Given the description of an element on the screen output the (x, y) to click on. 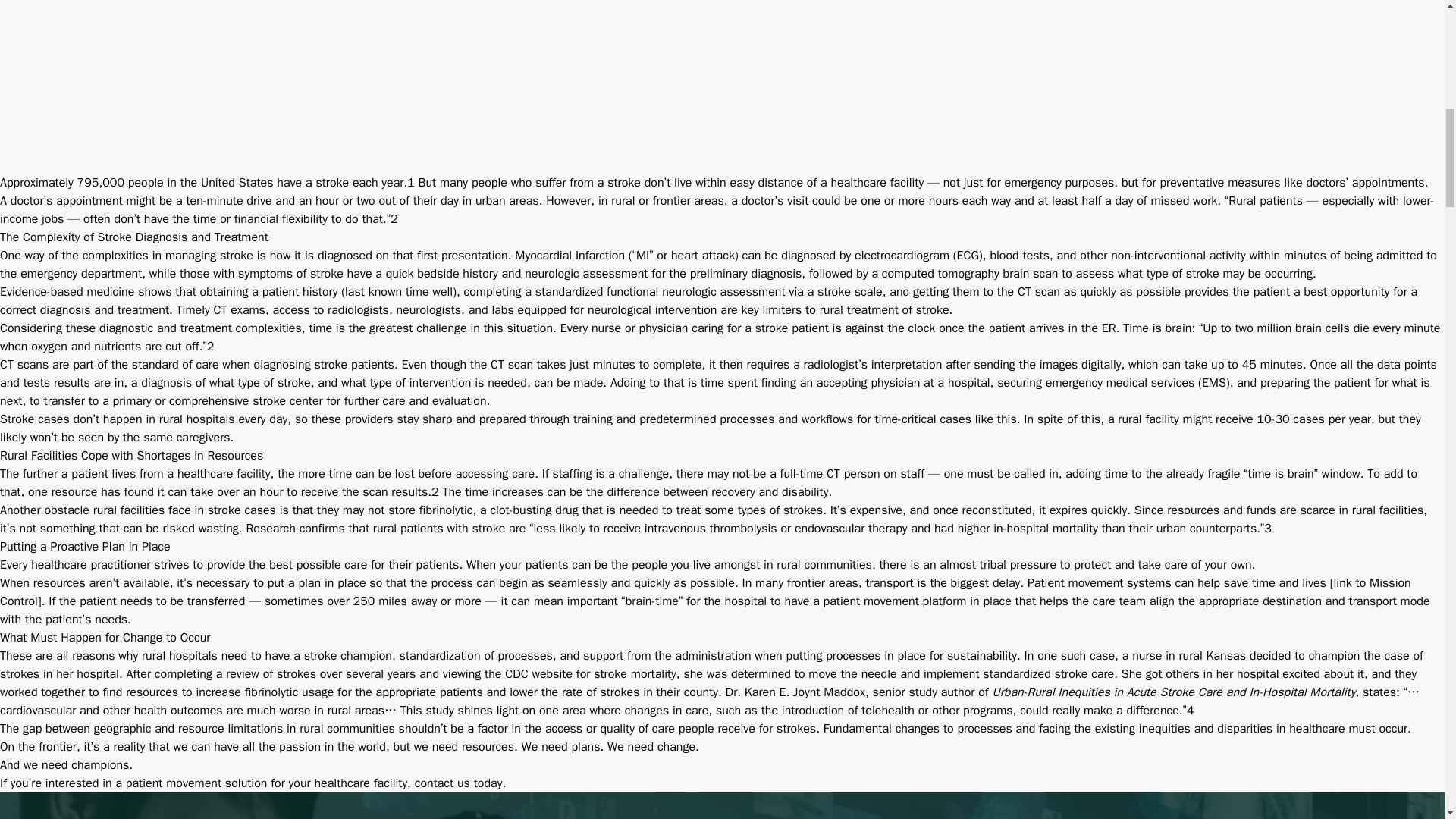
contact us today (458, 783)
